Given the description of an element on the screen output the (x, y) to click on. 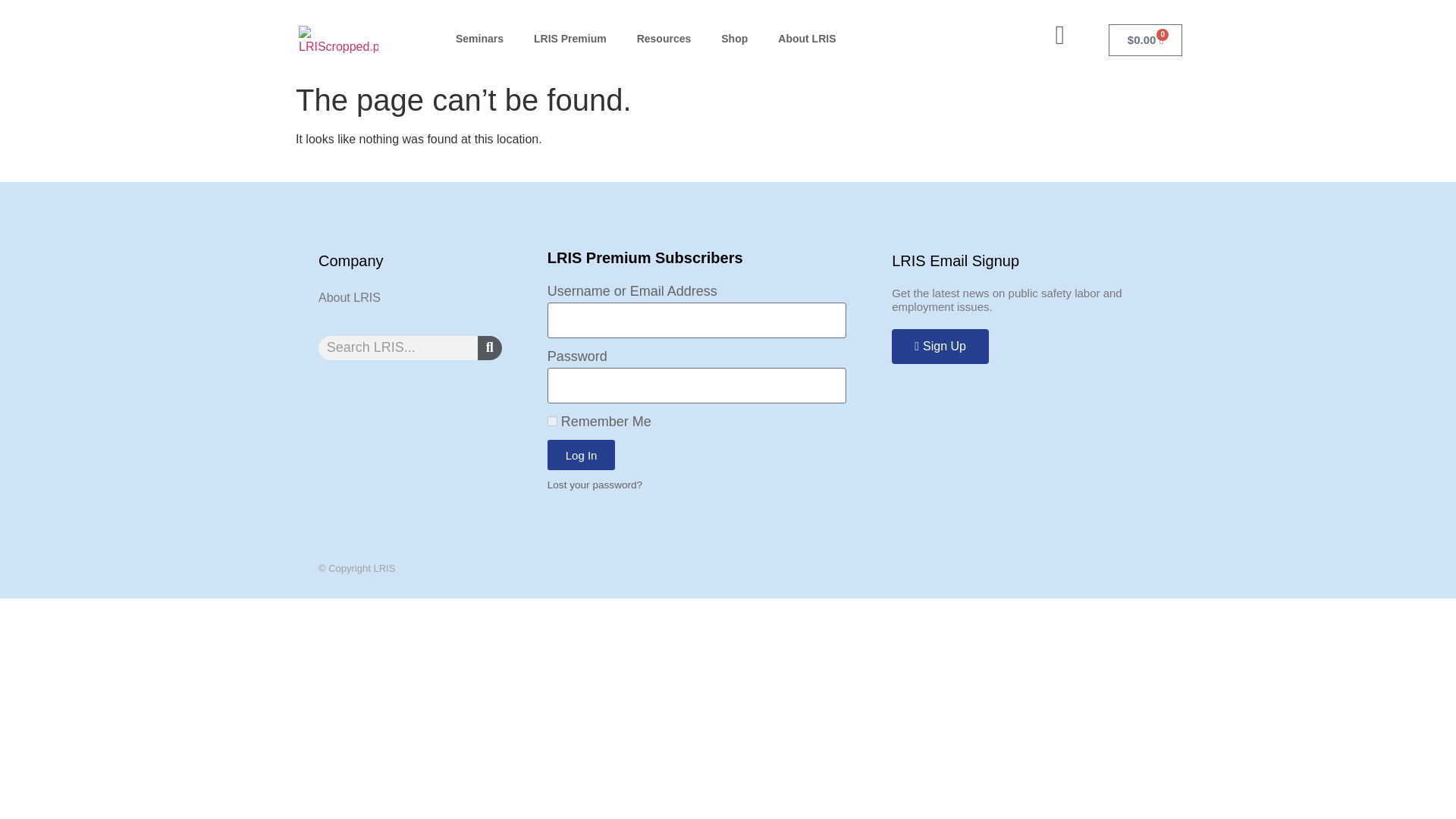
About LRIS (806, 38)
Resources (663, 38)
Shop (734, 38)
forever (552, 420)
Seminars (479, 38)
LRIS Premium (569, 38)
LRIScropped.png (338, 40)
